Given the description of an element on the screen output the (x, y) to click on. 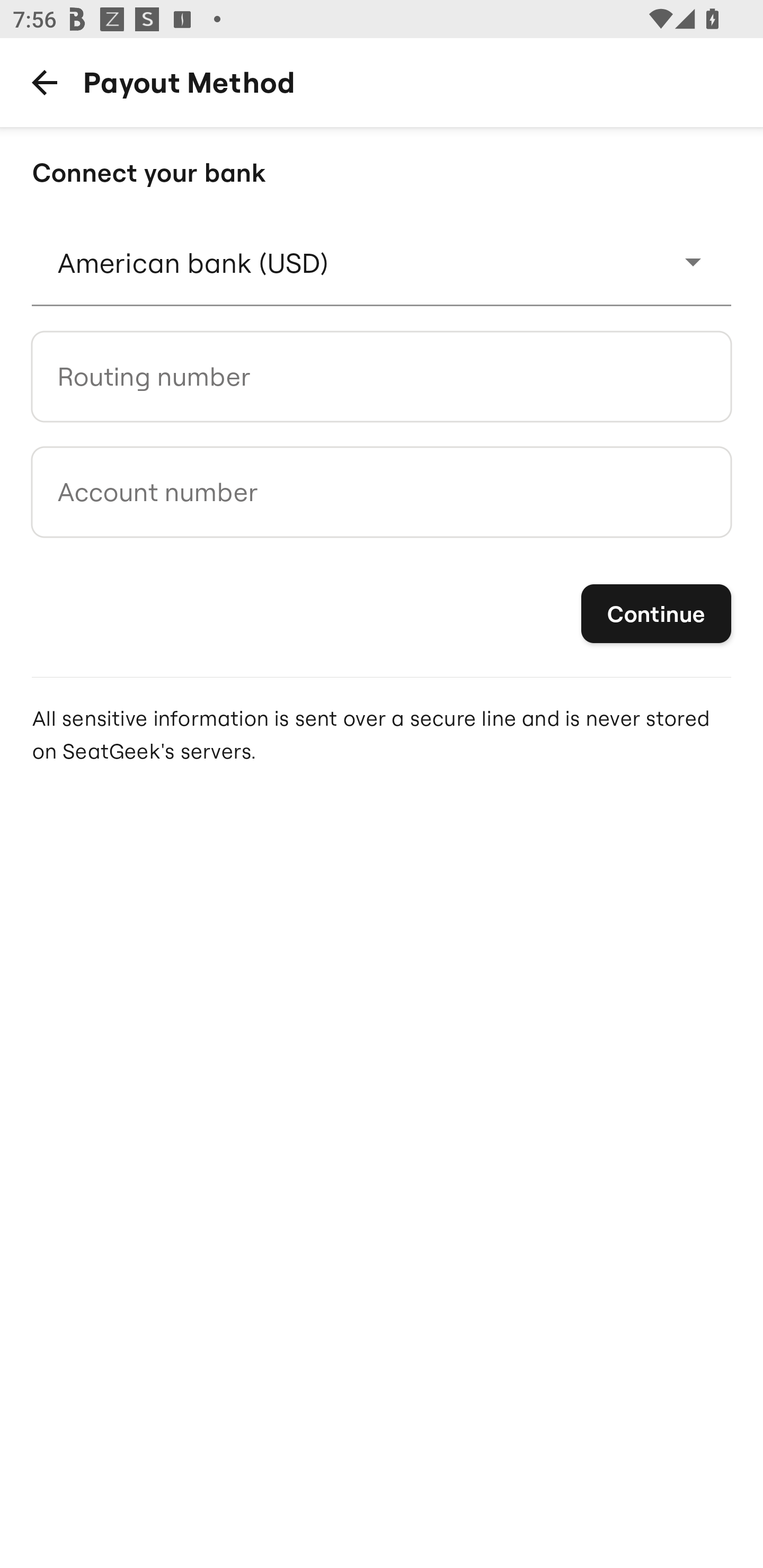
Back (44, 81)
Dropdown menu American bank (USD) (381, 261)
American bank (USD) (381, 261)
Routing number (381, 375)
Account number (381, 491)
Continue (655, 613)
